Given the description of an element on the screen output the (x, y) to click on. 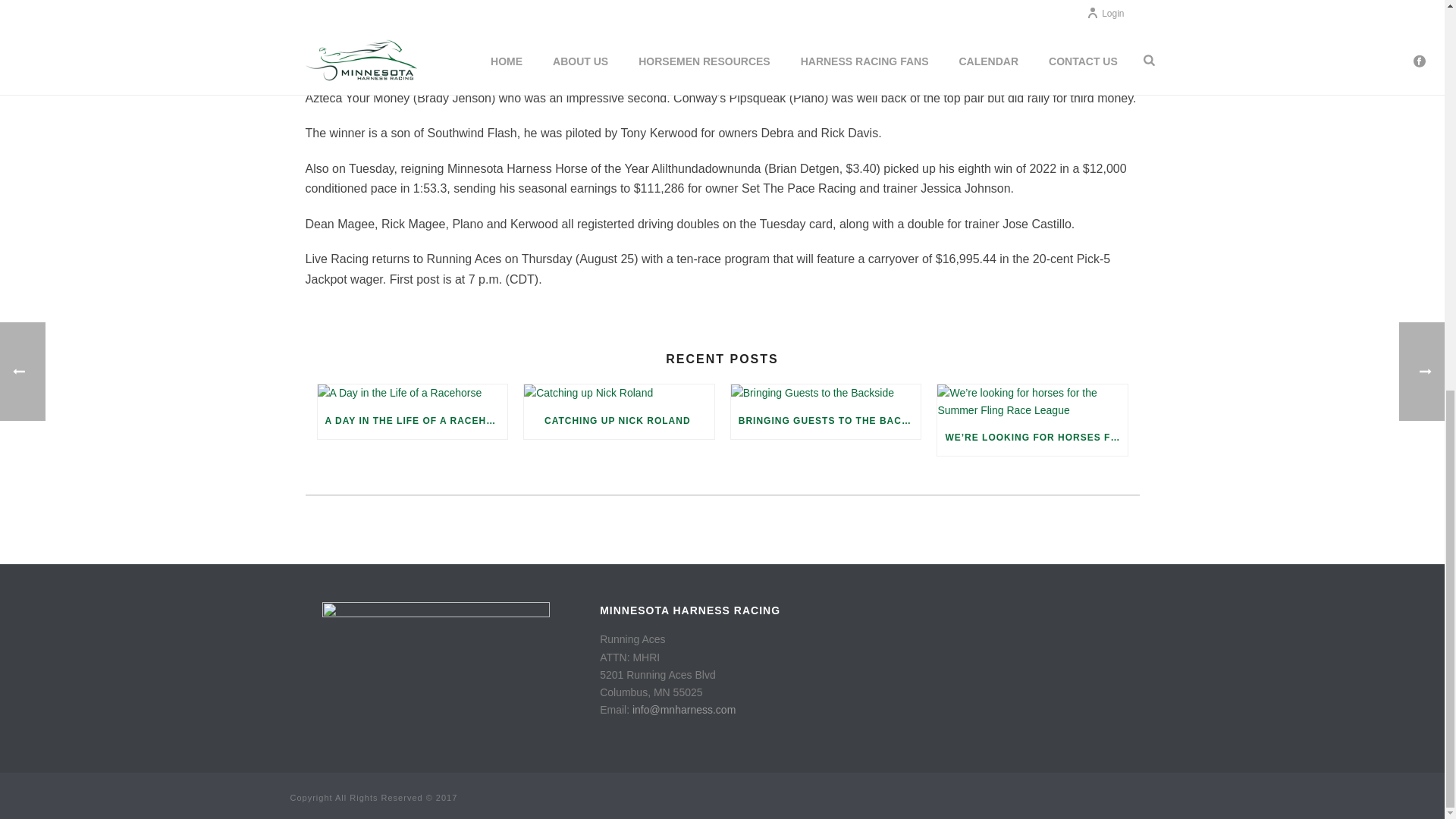
Bringing Guests to the Backside (825, 393)
A DAY IN THE LIFE OF A RACEHORSE (411, 420)
A Day in the Life of a Racehorse (411, 393)
CATCHING UP NICK ROLAND  (619, 420)
BRINGING GUESTS TO THE BACKSIDE (825, 420)
